Given the description of an element on the screen output the (x, y) to click on. 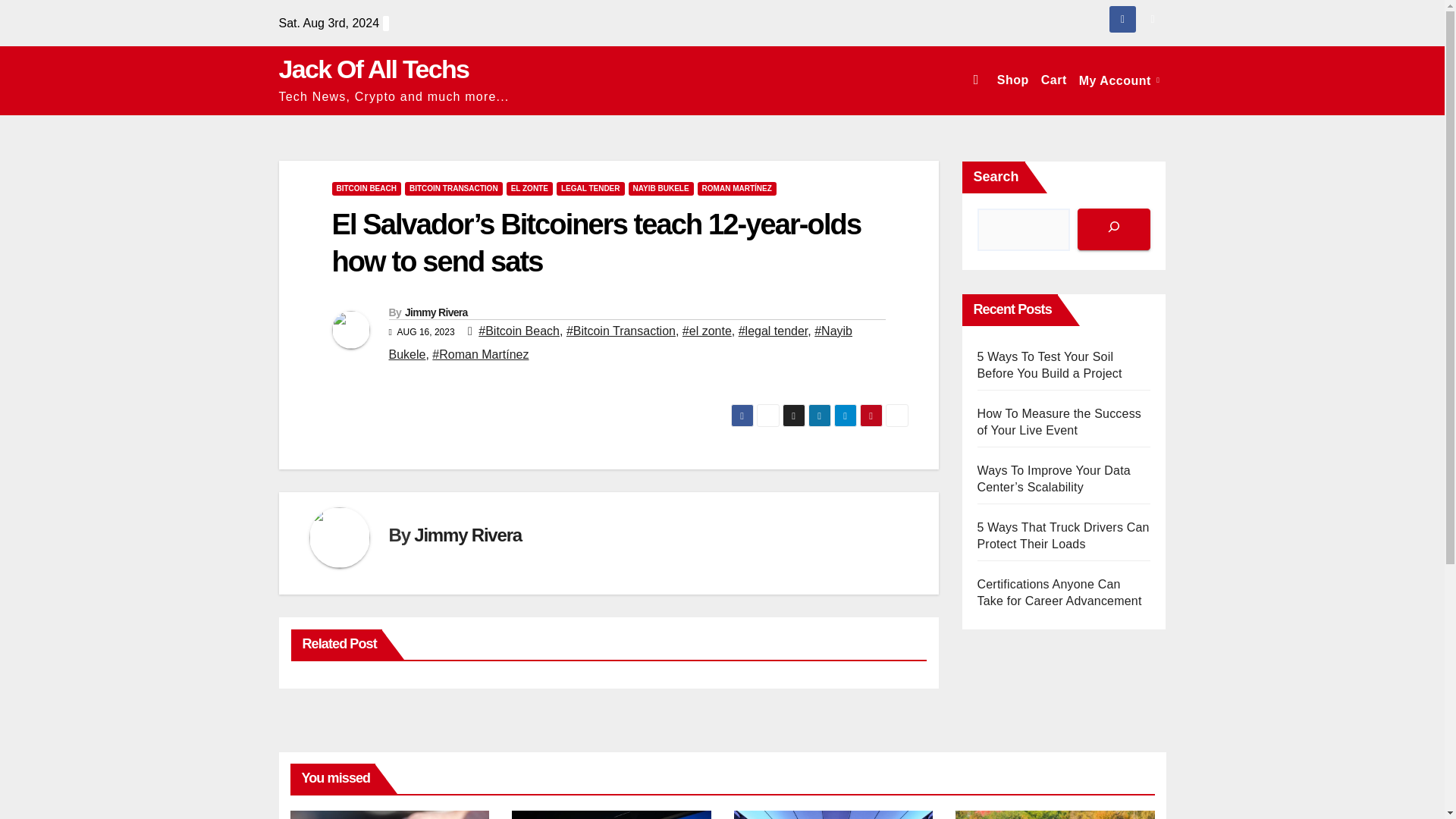
LEGAL TENDER (590, 188)
EL ZONTE (529, 188)
BITCOIN TRANSACTION (453, 188)
5 Ways To Test Your Soil Before You Build a Project (1048, 365)
Jimmy Rivera (467, 534)
NAYIB BUKELE (660, 188)
Jack Of All Techs (373, 68)
Jimmy Rivera (435, 312)
BITCOIN BEACH (366, 188)
My account (1119, 80)
My Account (1119, 80)
